Given the description of an element on the screen output the (x, y) to click on. 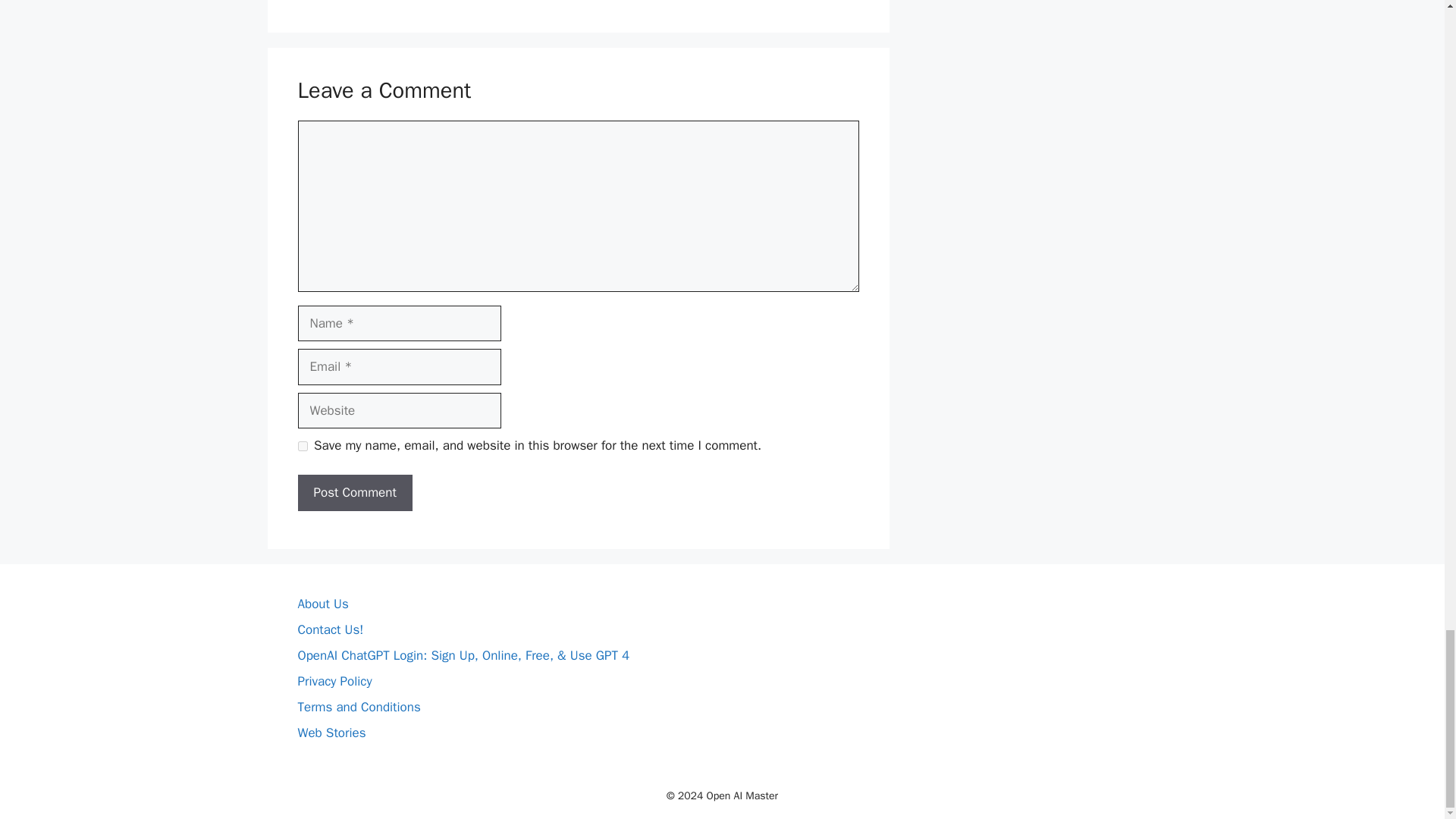
Post Comment (354, 493)
Post Comment (354, 493)
yes (302, 446)
